Given the description of an element on the screen output the (x, y) to click on. 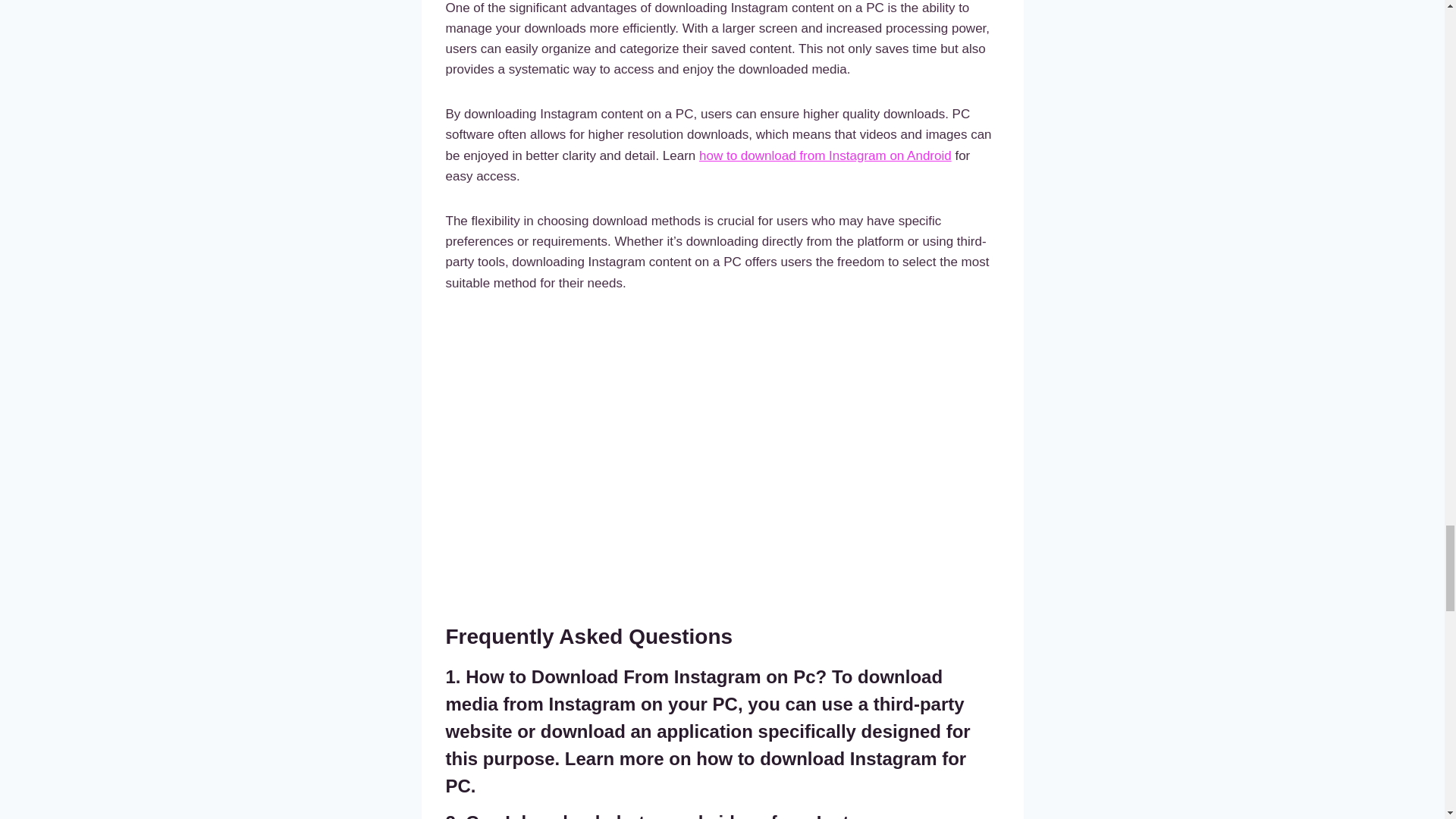
How to Download From Instagram on Pc (640, 676)
how to download Instagram for PC (705, 772)
how to download from Instagram on Android (825, 155)
